Given the description of an element on the screen output the (x, y) to click on. 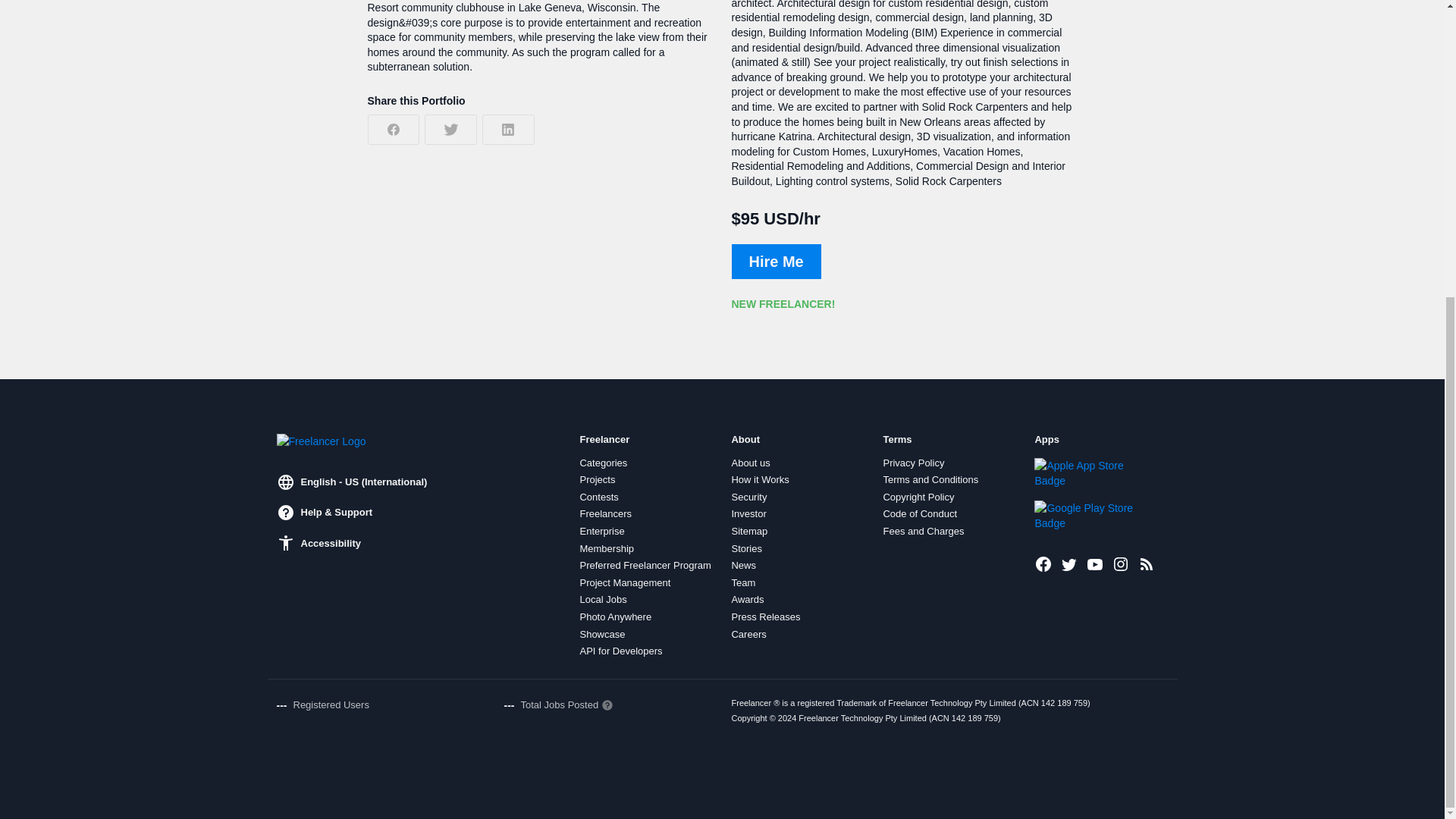
Freelancer on Youtube (1094, 564)
Share on Twitter (450, 129)
Contests (598, 497)
Freelancers (605, 513)
Awards (746, 599)
Hire Me (775, 261)
Project Management (624, 582)
Enterprise (601, 531)
Sitemap (748, 531)
Security (748, 497)
